Given the description of an element on the screen output the (x, y) to click on. 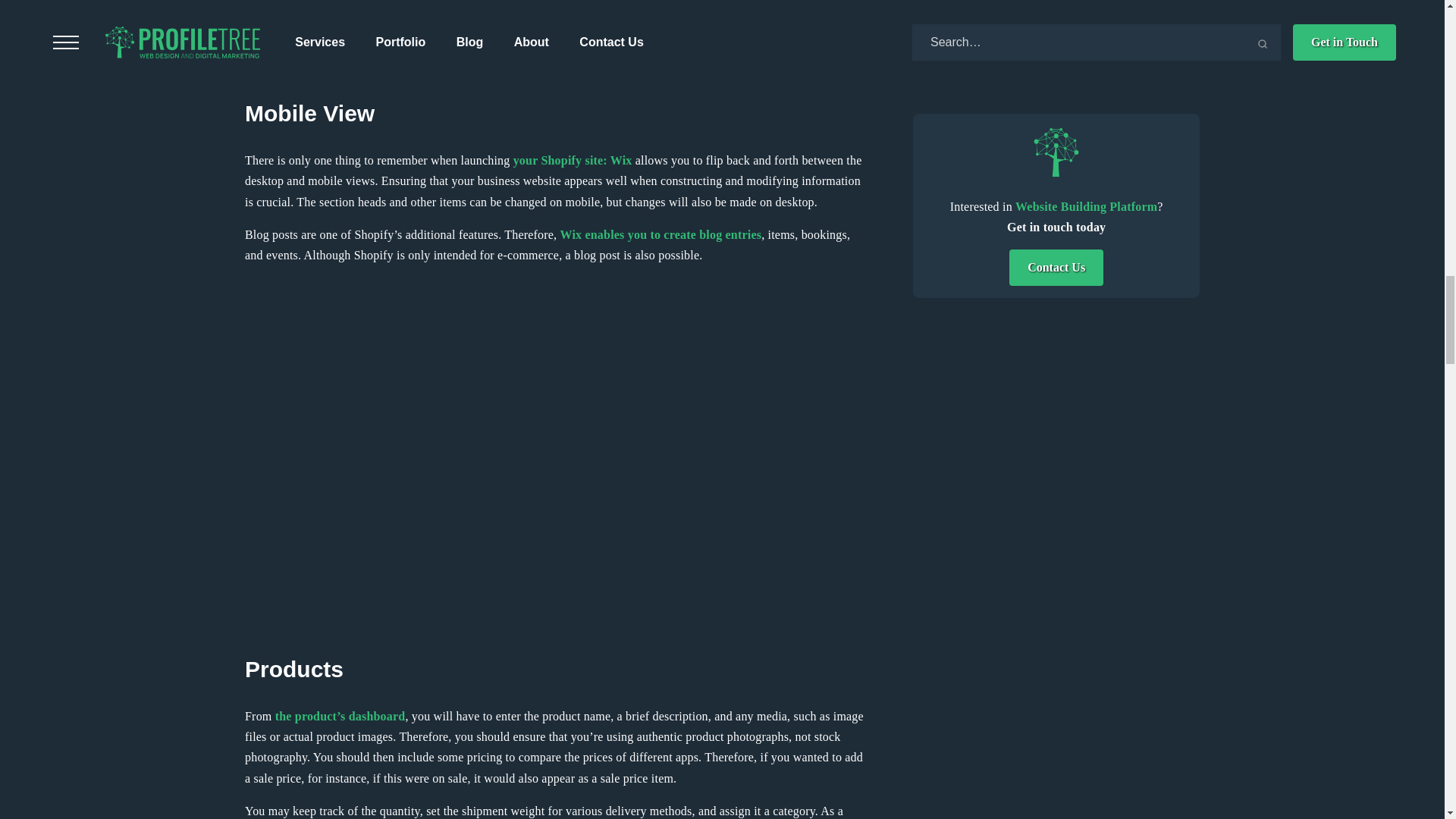
your Shopify site: Wix (572, 160)
Wix enables you to create blog entries (660, 234)
